Given the description of an element on the screen output the (x, y) to click on. 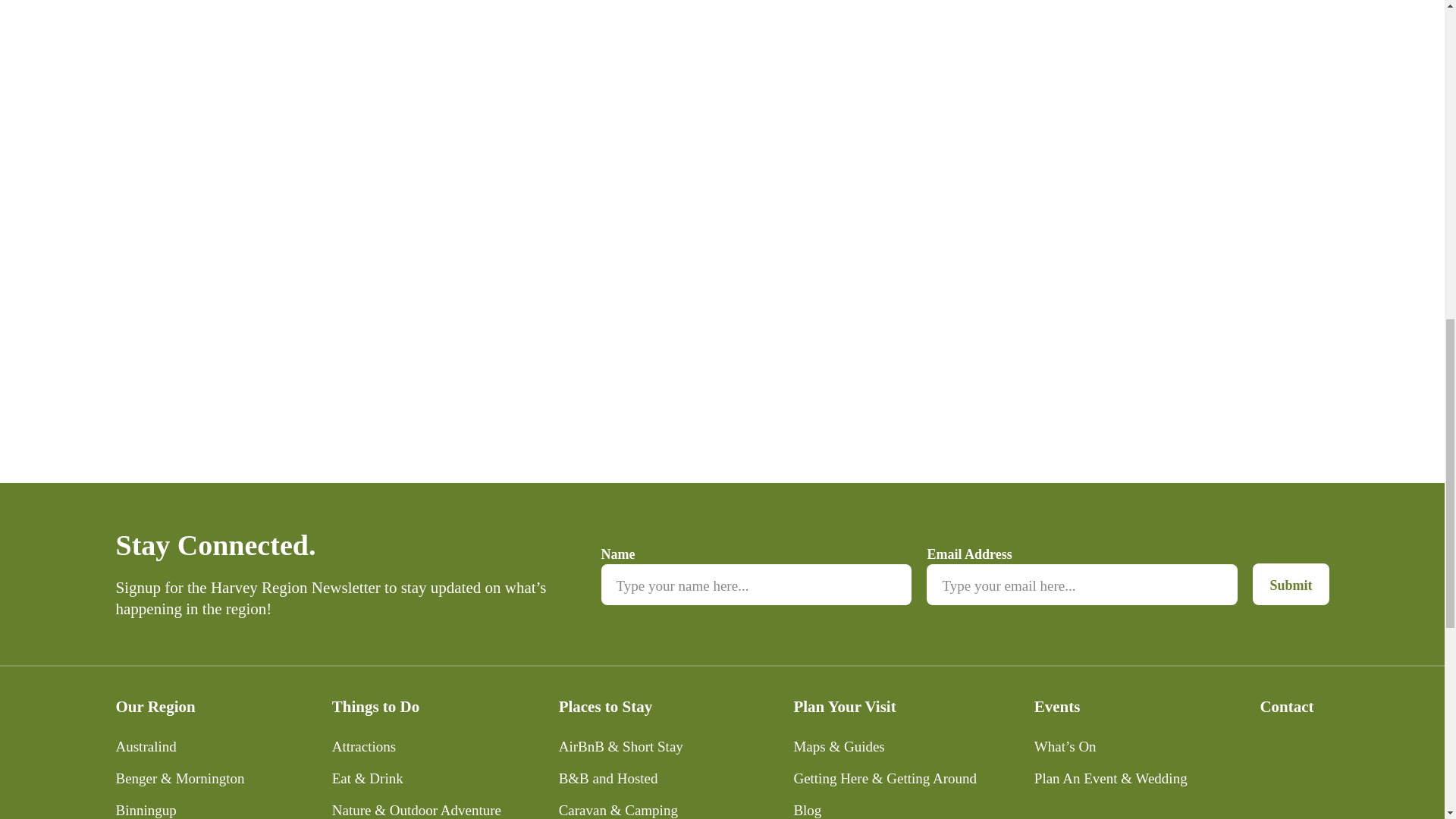
Submit (1289, 584)
